Given the description of an element on the screen output the (x, y) to click on. 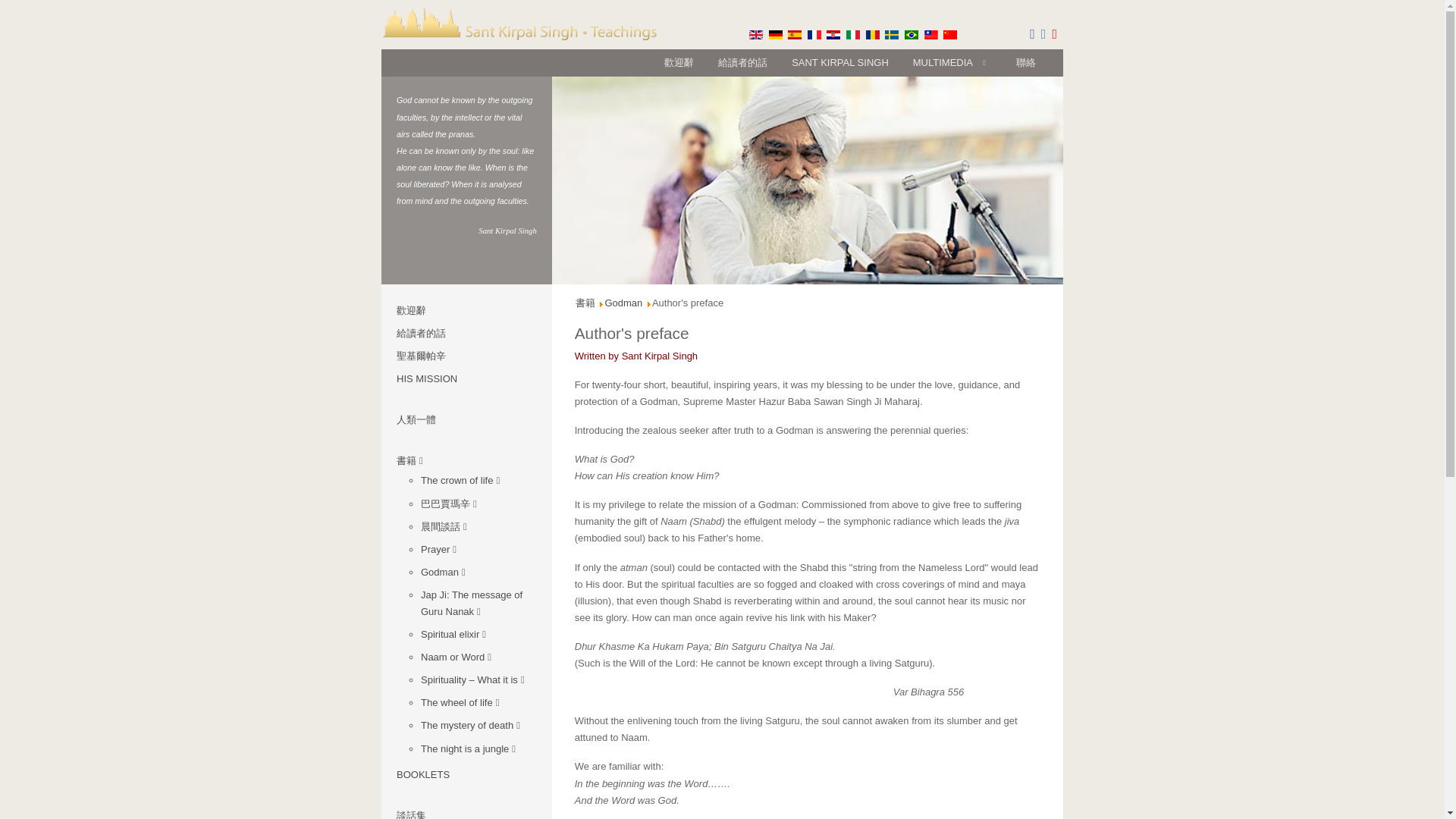
SANT KIRPAL SINGH (839, 62)
Svenska (891, 34)
Hrvatski (833, 34)
English  (755, 34)
French (814, 34)
MULTIMEDIA (952, 62)
Italiano (852, 34)
Deutsch (775, 34)
